Given the description of an element on the screen output the (x, y) to click on. 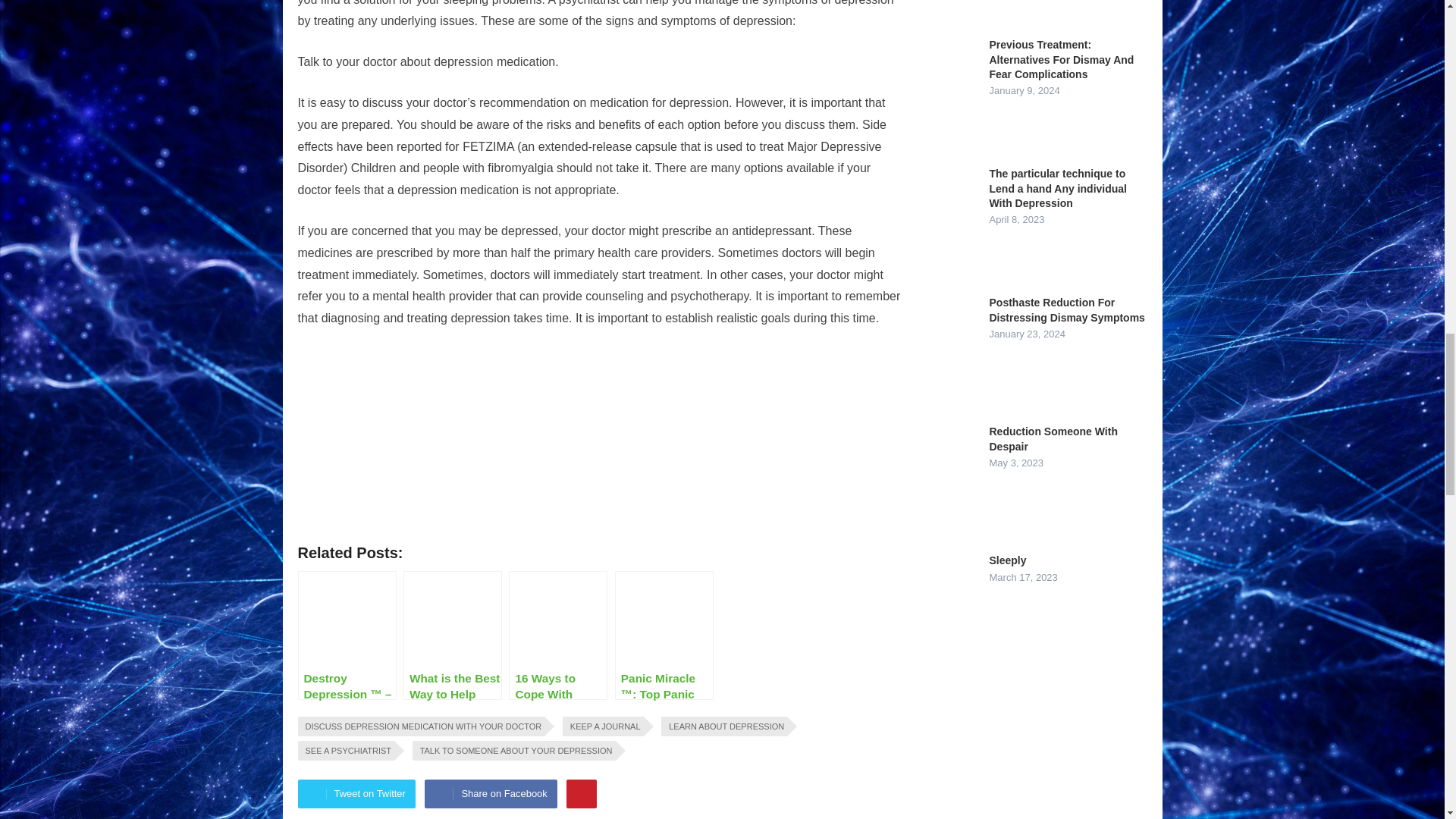
SEE A PSYCHIATRIST (345, 750)
Pinterest (581, 793)
Share on Facebook (490, 793)
LEARN ABOUT DEPRESSION (724, 726)
TALK TO SOMEONE ABOUT YOUR DEPRESSION (513, 750)
DISCUSS DEPRESSION MEDICATION WITH YOUR DOCTOR (420, 726)
KEEP A JOURNAL (602, 726)
Tweet on Twitter (355, 793)
